Given the description of an element on the screen output the (x, y) to click on. 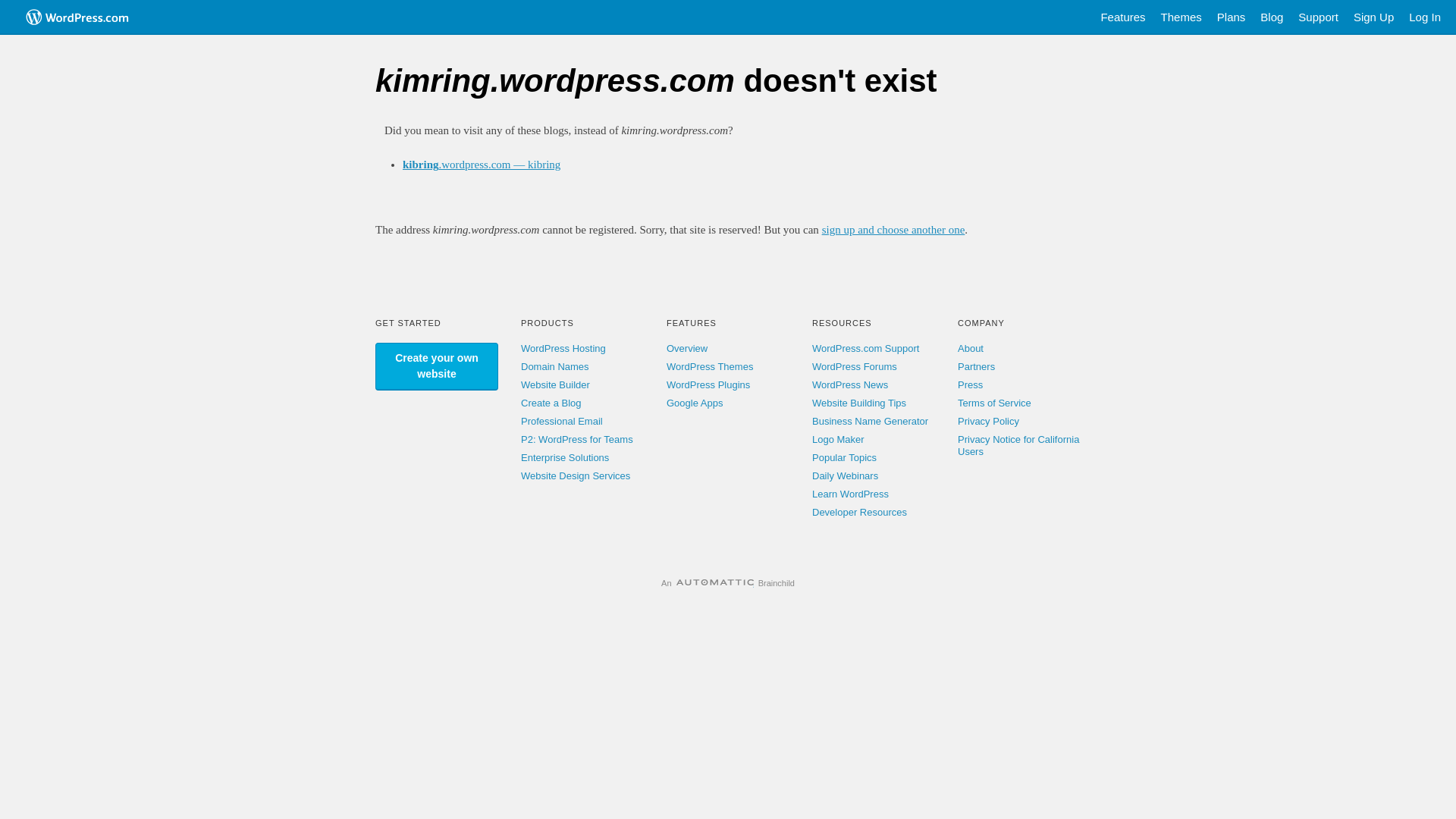
Logo Maker Element type: text (838, 439)
Professional Email Element type: text (561, 420)
Automattic Element type: text (714, 583)
WordPress Forums Element type: text (854, 366)
Popular Topics Element type: text (844, 457)
Website Design Services Element type: text (575, 475)
About Element type: text (970, 348)
Blog Element type: text (1271, 17)
WordPress Plugins Element type: text (707, 384)
Create a Blog Element type: text (550, 402)
Privacy Policy Element type: text (988, 420)
WordPress Hosting Element type: text (562, 348)
WordPress Themes Element type: text (709, 366)
Partners Element type: text (975, 366)
WordPress News Element type: text (850, 384)
P2: WordPress for Teams Element type: text (576, 439)
Sign Up Element type: text (1373, 17)
Business Name Generator Element type: text (870, 420)
Learn WordPress Element type: text (850, 493)
Privacy Notice for California Users Element type: text (1018, 445)
Terms of Service Element type: text (994, 402)
Create your own website Element type: text (436, 366)
Google Apps Element type: text (694, 402)
Enterprise Solutions Element type: text (564, 457)
Overview Element type: text (686, 348)
Features Element type: text (1122, 17)
sign up and choose another one Element type: text (893, 229)
Support Element type: text (1318, 17)
Developer Resources Element type: text (859, 511)
WordPress.com Support Element type: text (865, 348)
Press Element type: text (969, 384)
Website Builder Element type: text (554, 384)
Domain Names Element type: text (554, 366)
Daily Webinars Element type: text (845, 475)
Plans Element type: text (1231, 17)
Website Building Tips Element type: text (859, 402)
Log In Element type: text (1424, 17)
Themes Element type: text (1181, 17)
